Given the description of an element on the screen output the (x, y) to click on. 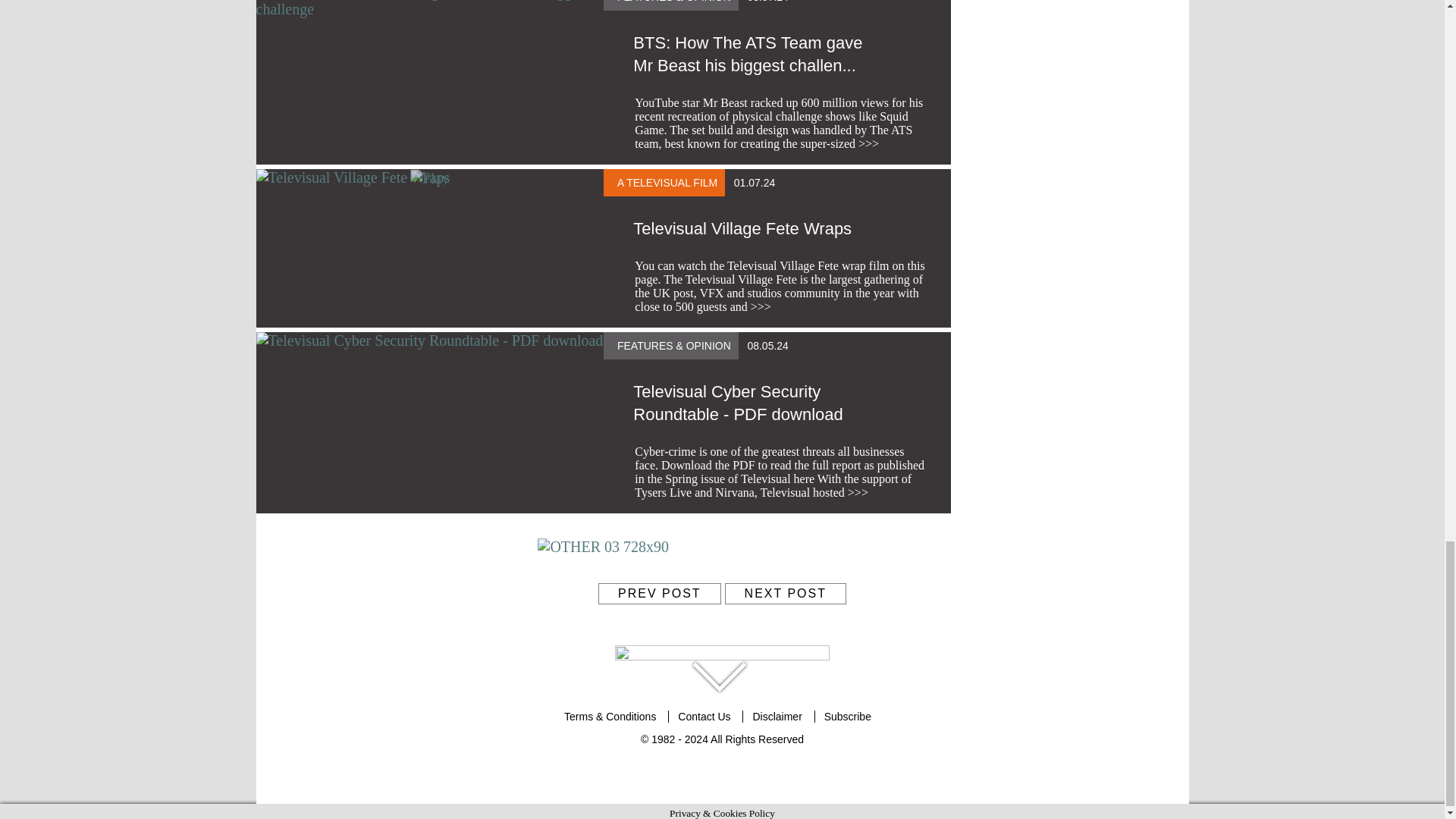
televisual-logo (721, 658)
